Given the description of an element on the screen output the (x, y) to click on. 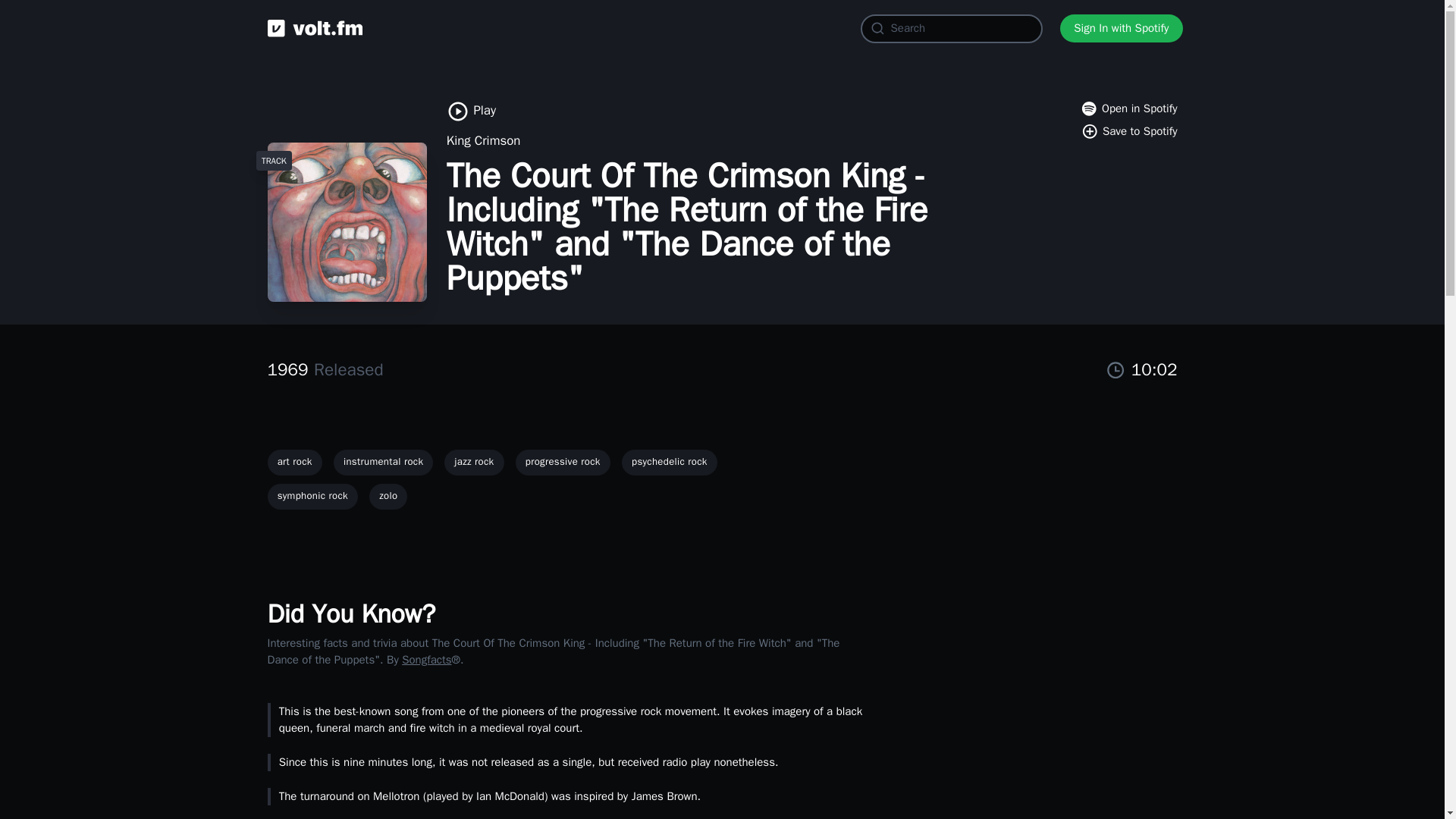
symphonic rock (312, 496)
art rock (293, 462)
jazz rock (473, 462)
Open in Spotify (1128, 108)
progressive rock (562, 462)
zolo (388, 496)
Songfacts (426, 659)
Play (471, 110)
psychedelic rock (669, 462)
King Crimson (483, 140)
